Given the description of an element on the screen output the (x, y) to click on. 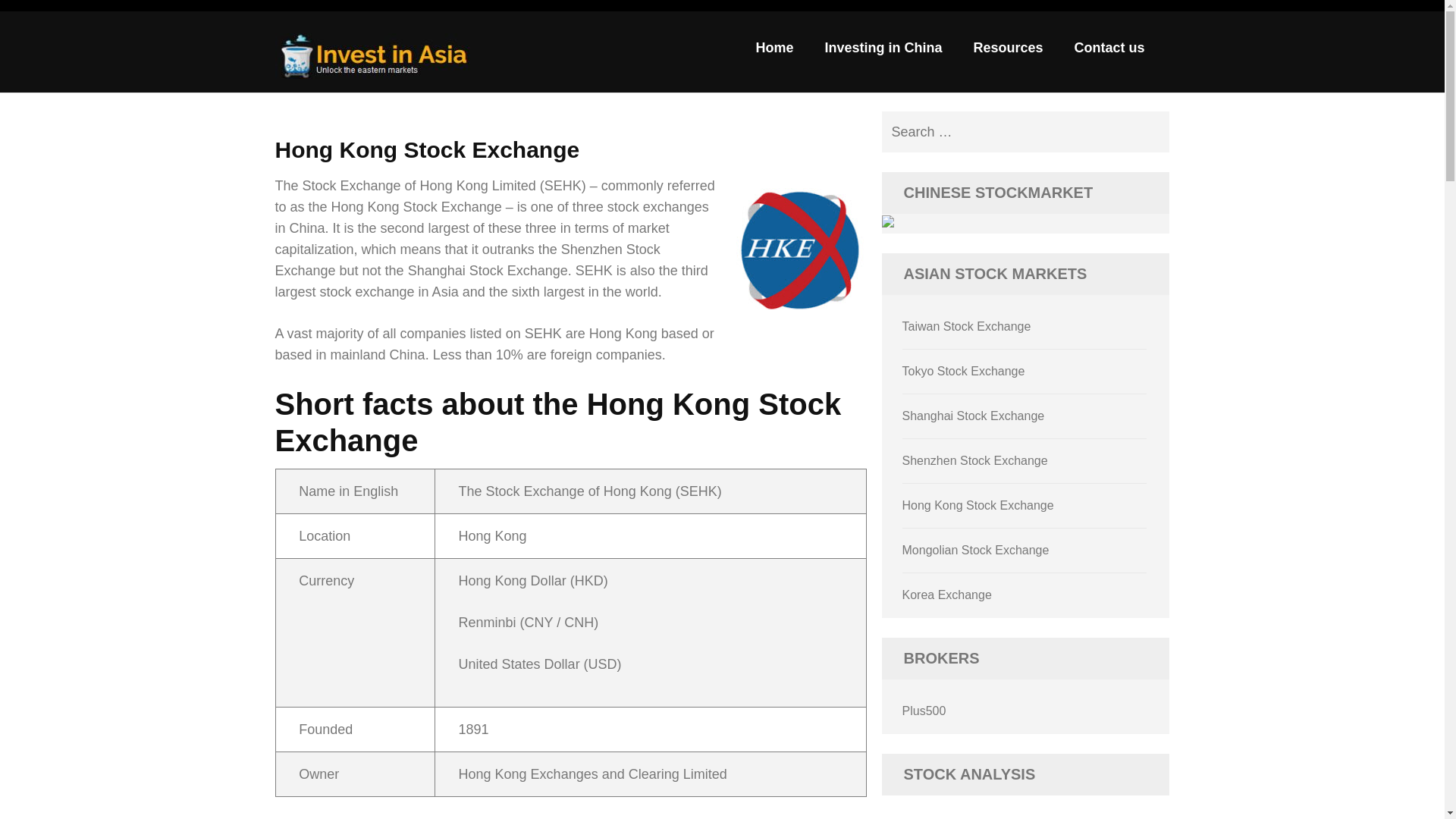
Contact us (1109, 53)
Hong Kong Stock Exchange (978, 504)
Shenzhen Stock Exchange (975, 460)
Taiwan Stock Exchange (966, 326)
Invest in Asia (362, 94)
Resources (1007, 53)
Tokyo Stock Exchange (963, 370)
Shanghai Stock Exchange (973, 415)
Search (1147, 131)
Search (1147, 131)
